Given the description of an element on the screen output the (x, y) to click on. 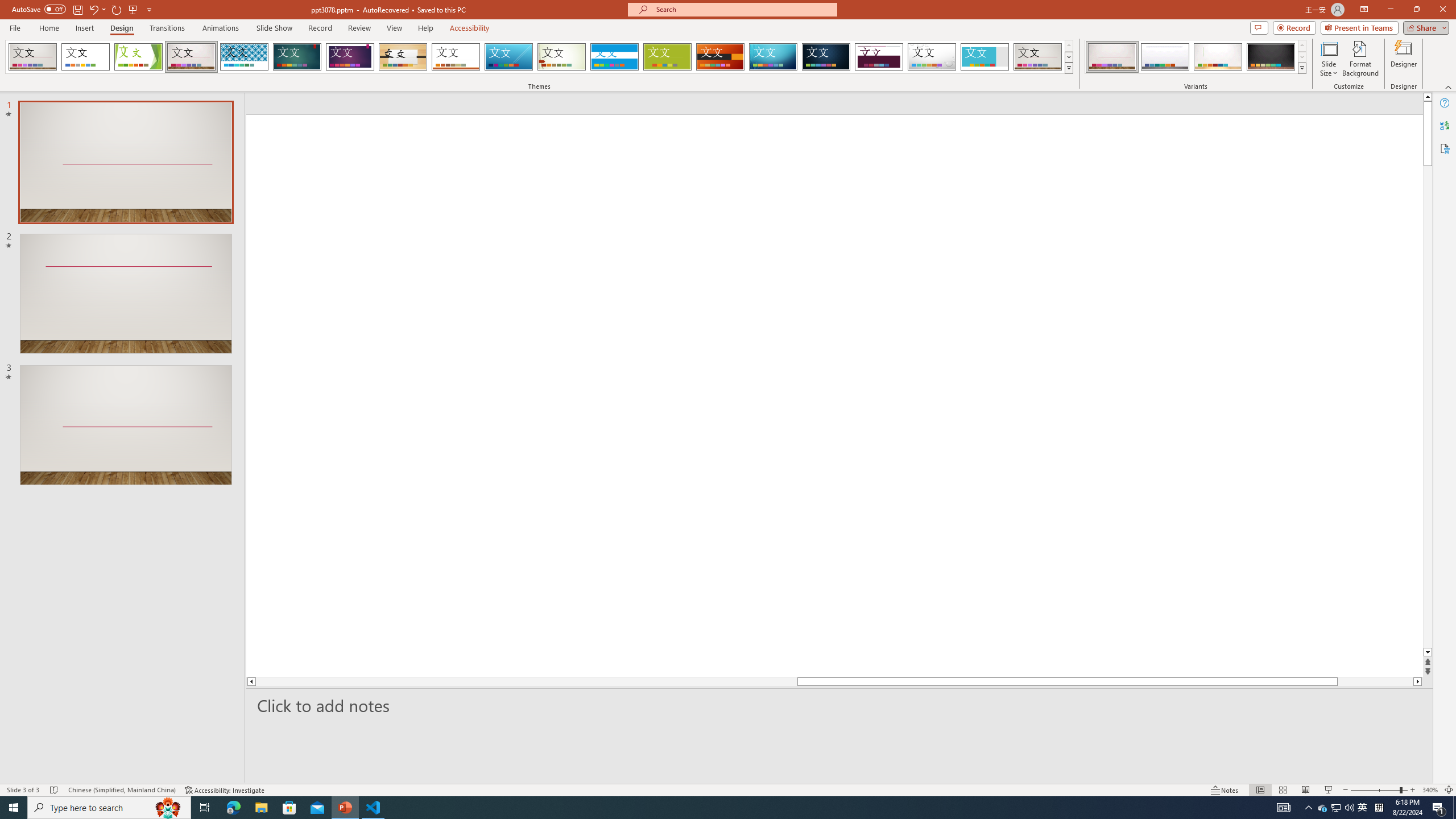
Damask (826, 56)
Berlin (720, 56)
Variants (1301, 67)
Integral (244, 56)
Retrospect (455, 56)
Slice (508, 56)
Gallery Variant 4 (1270, 56)
